Given the description of an element on the screen output the (x, y) to click on. 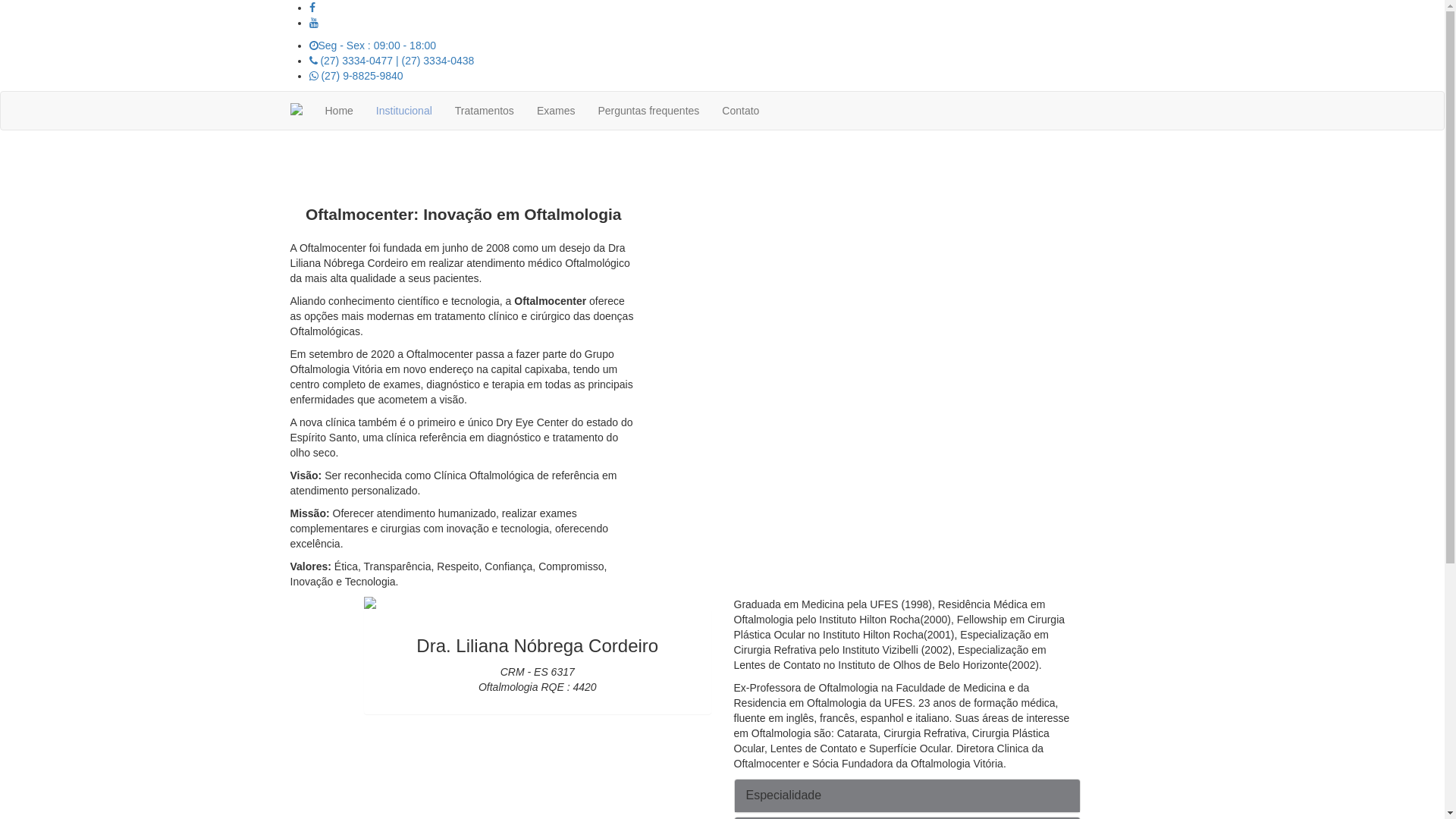
Institucional Element type: text (403, 110)
Facebook Element type: hover (312, 7)
Seg - Sex : 09:00 - 18:00 Element type: text (372, 45)
Home Element type: text (338, 110)
Especialidade Element type: text (784, 794)
Youtube Element type: hover (313, 22)
(27) 9-8825-9840 Element type: text (356, 75)
Exames Element type: text (555, 110)
Perguntas frequentes Element type: text (648, 110)
Tratamentos Element type: text (484, 110)
(27) 3334-0477 | (27) 3334-0438 Element type: text (391, 60)
Contato Element type: text (740, 110)
